Given the description of an element on the screen output the (x, y) to click on. 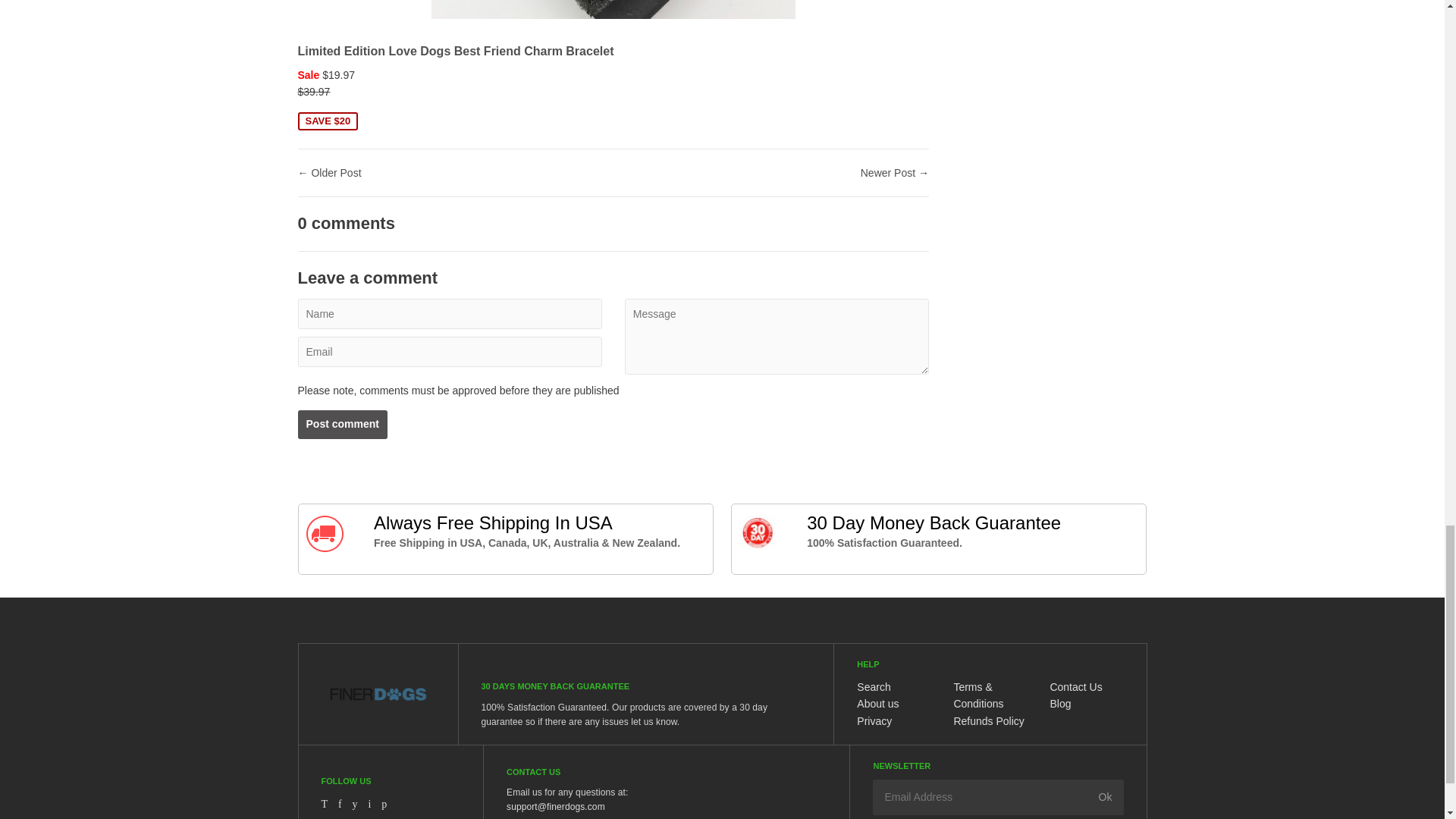
Finer Dogs on Pinterest (384, 803)
Finer Dogs on Twitter (325, 803)
Ok (1105, 796)
Finer Dogs on Instagram (369, 803)
Finer Dogs on Youtube (355, 803)
Finer Dogs on Facebook (339, 803)
Post comment (342, 424)
